Given the description of an element on the screen output the (x, y) to click on. 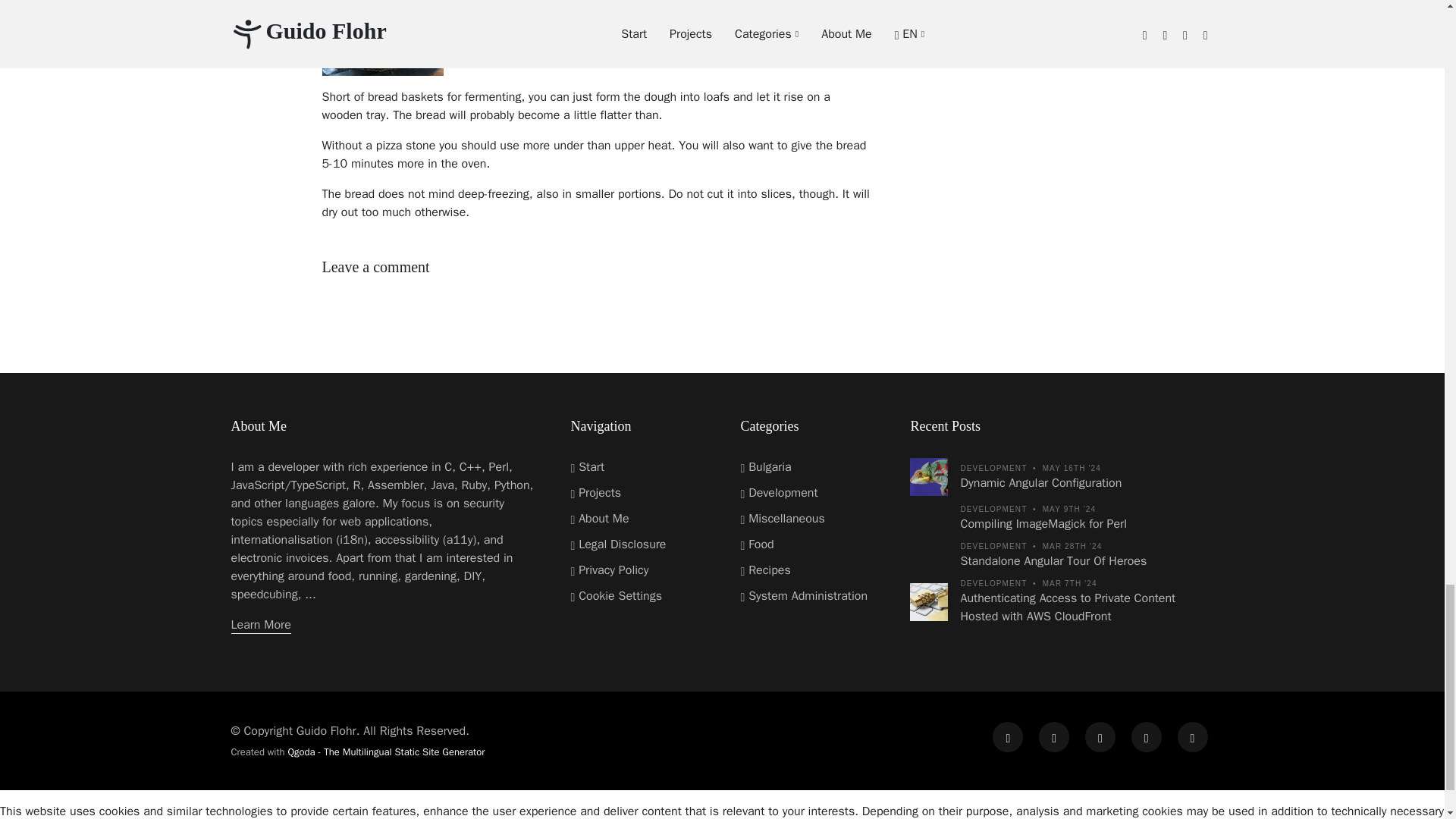
Me on GitHub (1007, 736)
Me on LinkedIn (1053, 736)
Subscribe to one of the feeds on this site. (1191, 736)
Me on Facebook (1099, 736)
Me on Twitter (1146, 736)
